Given the description of an element on the screen output the (x, y) to click on. 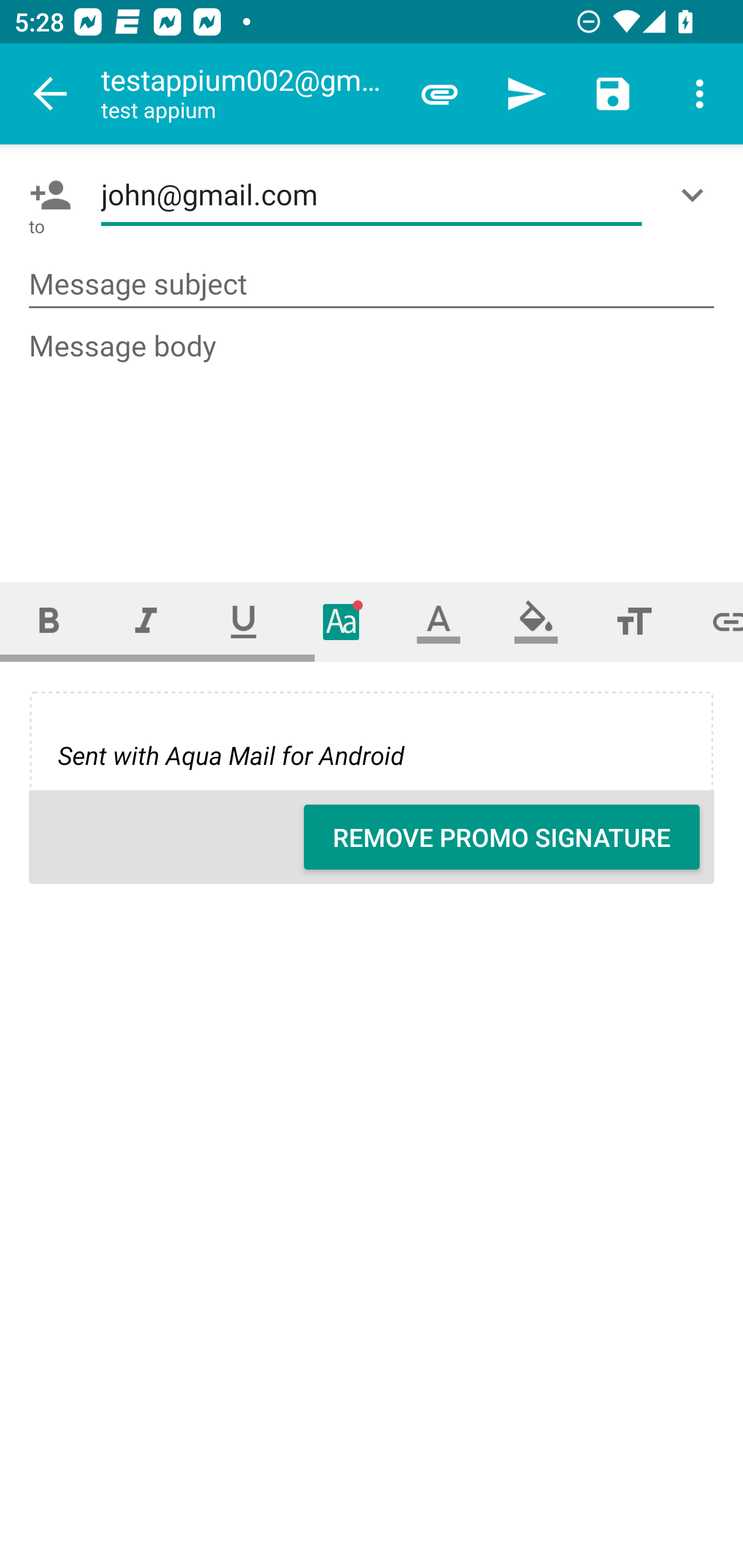
Navigate up (50, 93)
testappium002@gmail.com test appium (248, 93)
Attach (439, 93)
Send (525, 93)
Save (612, 93)
More options (699, 93)
Pick contact: To (46, 195)
Show/Add CC/BCC (696, 195)
john@gmail.com (371, 195)
Message subject (371, 284)
Message body (372, 438)
Bold (48, 621)
Italic (145, 621)
Underline (243, 621)
Typeface (font) (341, 621)
Text color (438, 621)
Fill color (536, 621)
Font size (633, 621)
Set link (712, 621)
REMOVE PROMO SIGNATURE (501, 837)
